Given the description of an element on the screen output the (x, y) to click on. 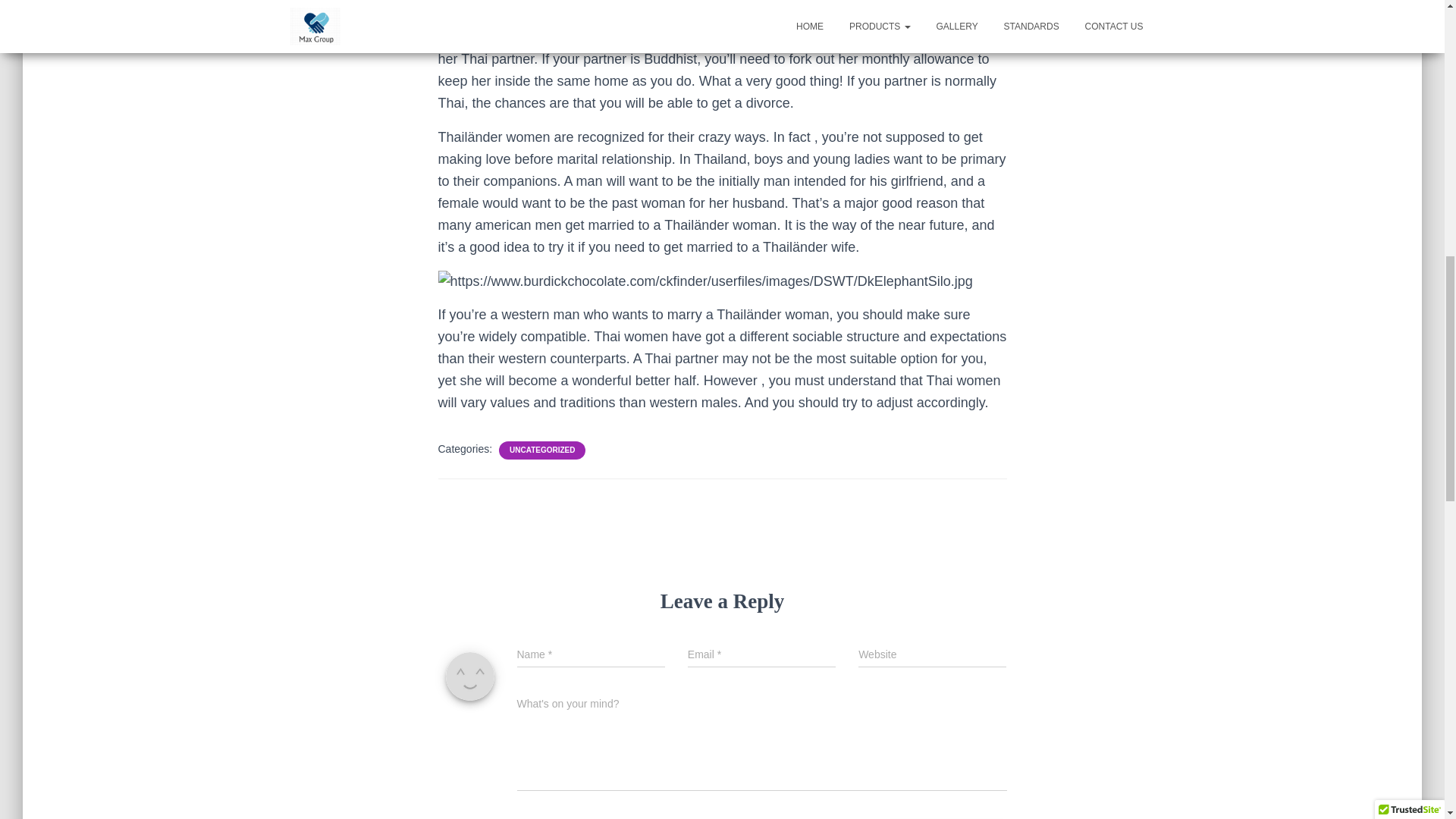
UNCATEGORIZED (542, 450)
